Given the description of an element on the screen output the (x, y) to click on. 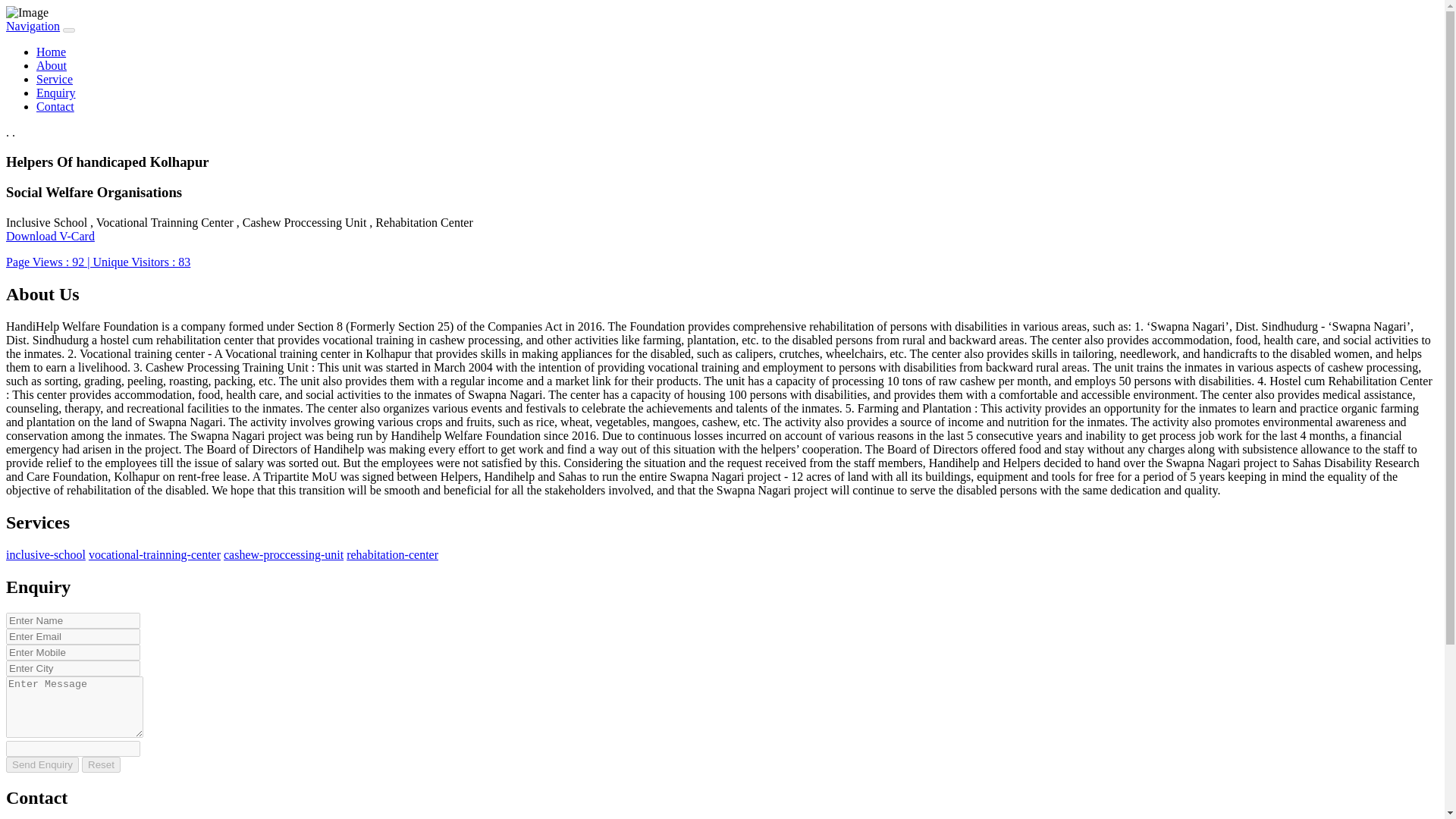
Enquiry (55, 92)
rehabitation-center (392, 554)
Contact (55, 106)
inclusive-school (45, 554)
Service (54, 78)
vocational-trainning-center (154, 554)
Send Enquiry (41, 764)
About (51, 65)
cashew-proccessing-unit (283, 554)
Download V-Card (49, 236)
